Given the description of an element on the screen output the (x, y) to click on. 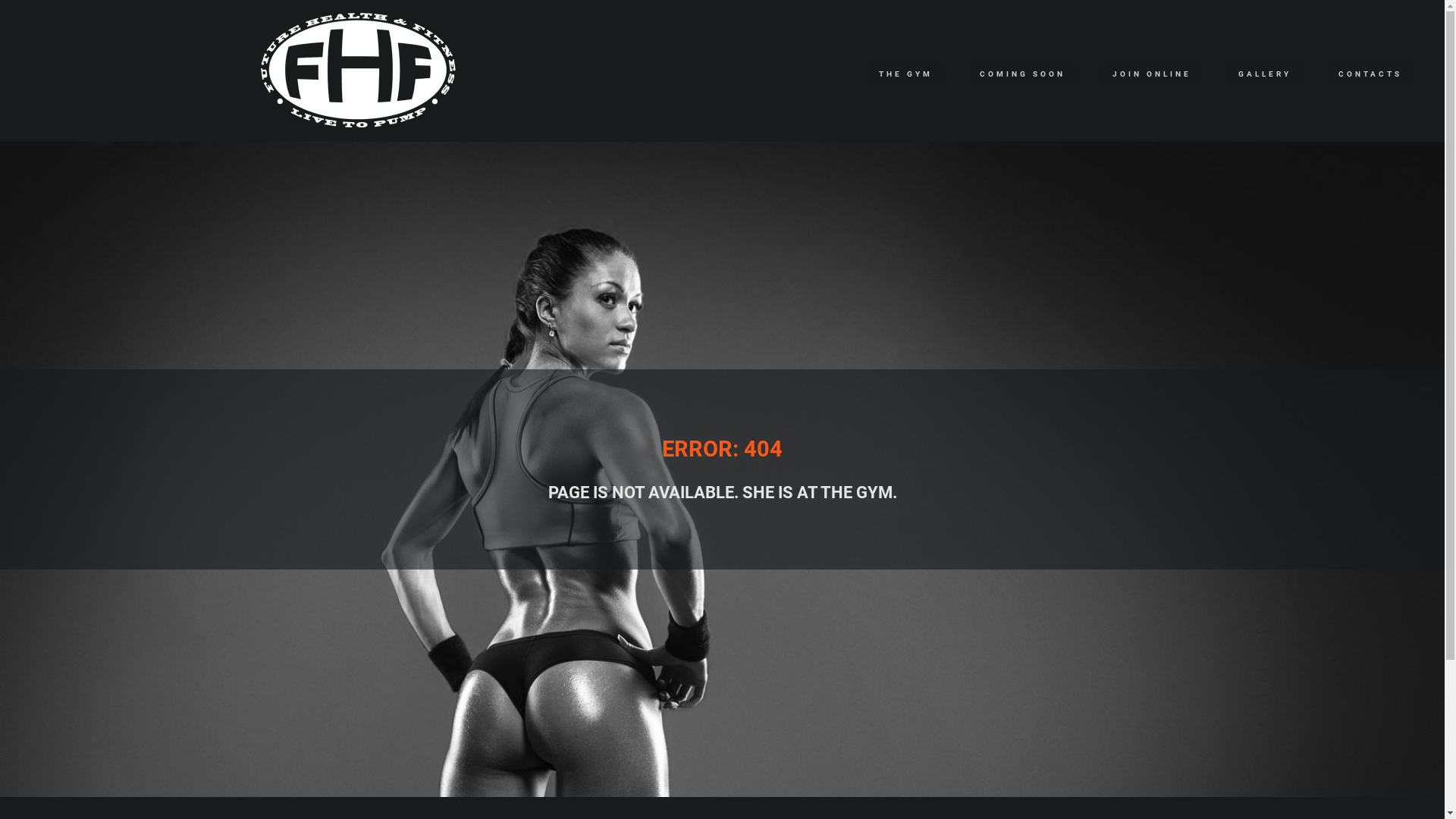
CONTACTS Element type: text (1370, 74)
THE GYM Element type: text (905, 74)
COMING SOON Element type: text (1022, 74)
GALLERY Element type: text (1264, 74)
JOIN ONLINE Element type: text (1151, 74)
